Given the description of an element on the screen output the (x, y) to click on. 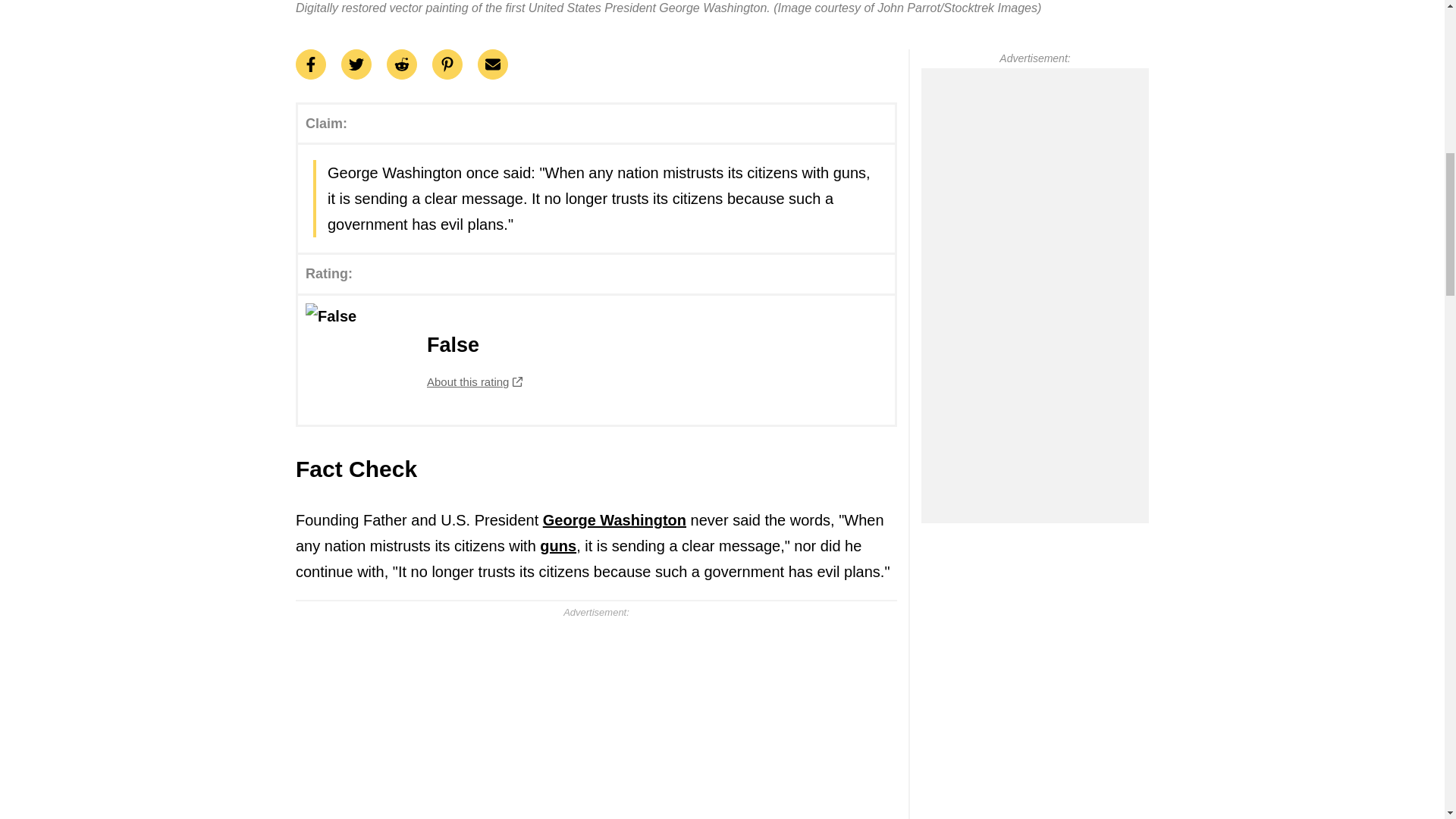
George Washington (614, 519)
